Given the description of an element on the screen output the (x, y) to click on. 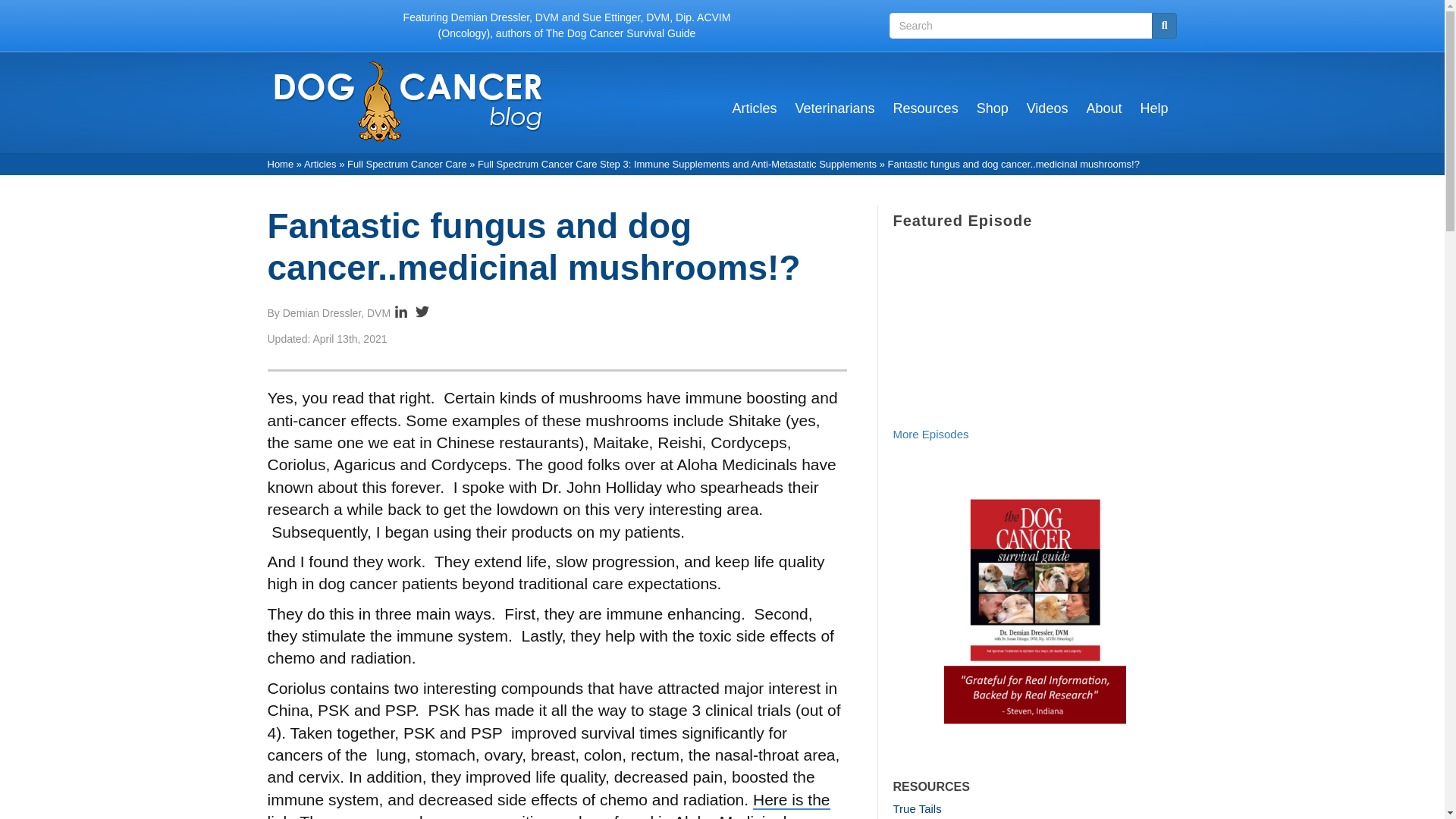
Resources (925, 114)
Type and press Enter to search. (1032, 25)
Articles (754, 114)
Veterinarians (834, 114)
